Given the description of an element on the screen output the (x, y) to click on. 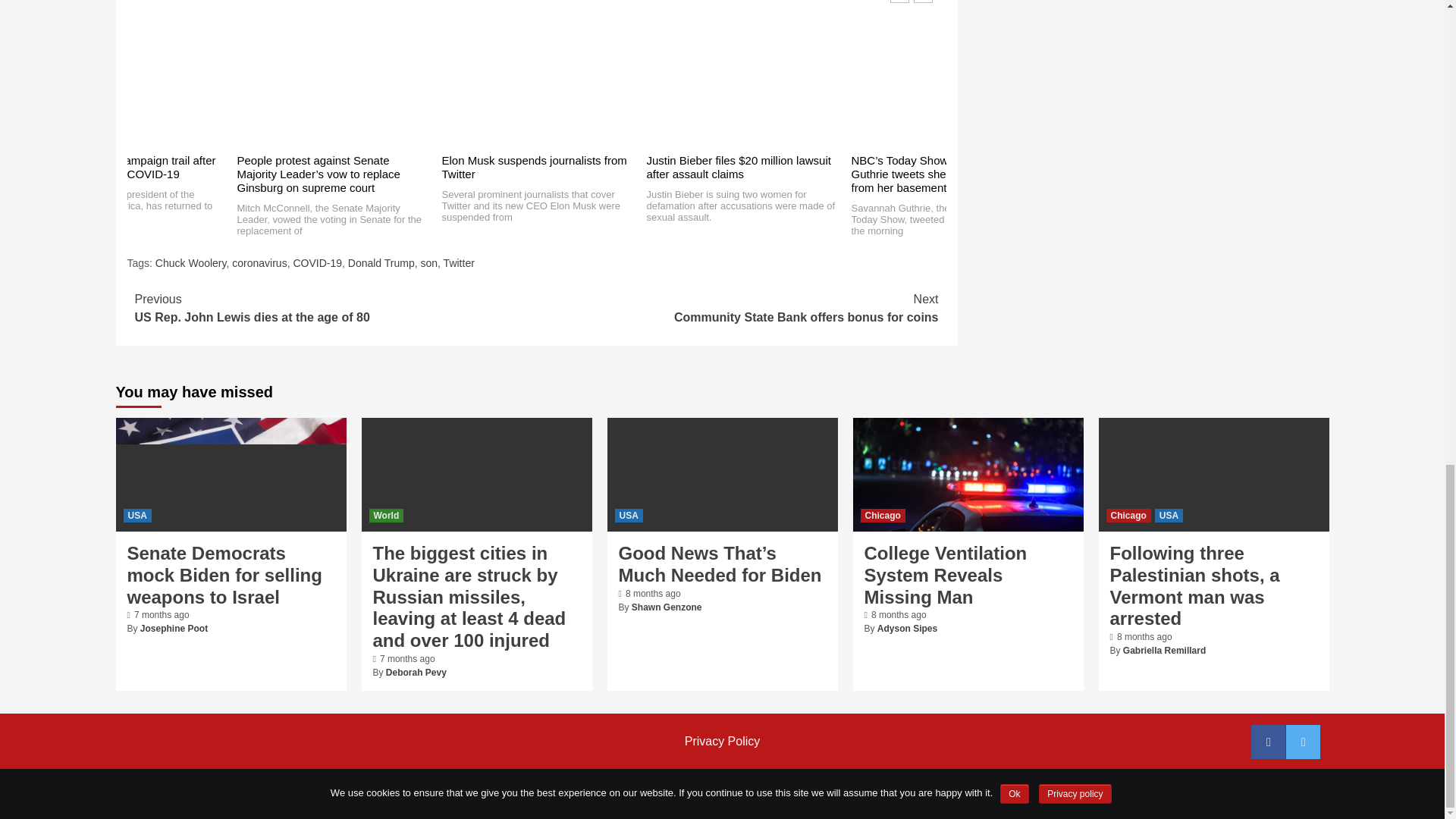
Elon Musk suspends journalists from Twitter (533, 166)
